Given the description of an element on the screen output the (x, y) to click on. 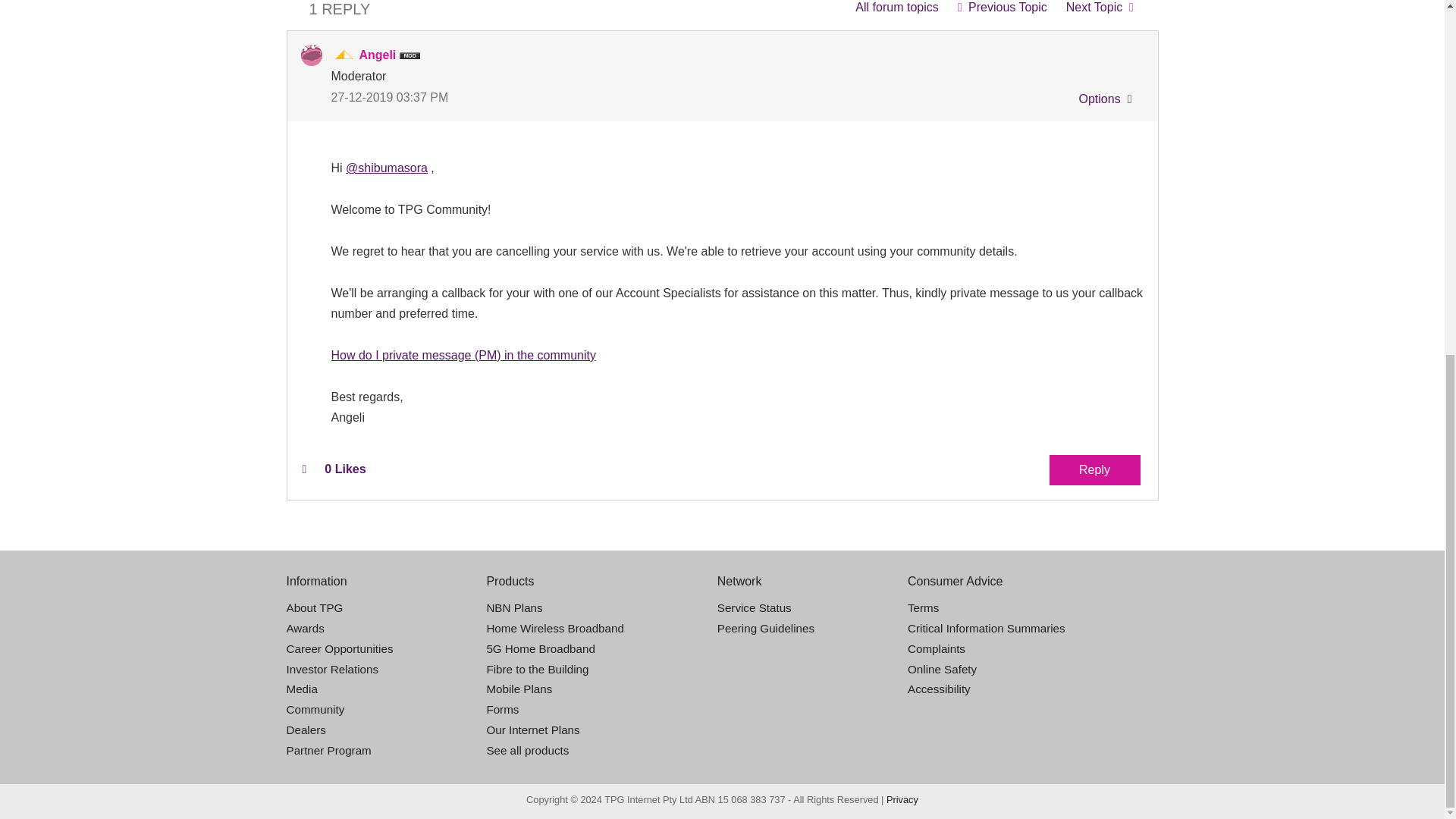
Cancel account (1099, 11)
Moderator (344, 55)
Accounts and Billing (896, 11)
Angeli (310, 55)
Moving Home (1002, 11)
